Given the description of an element on the screen output the (x, y) to click on. 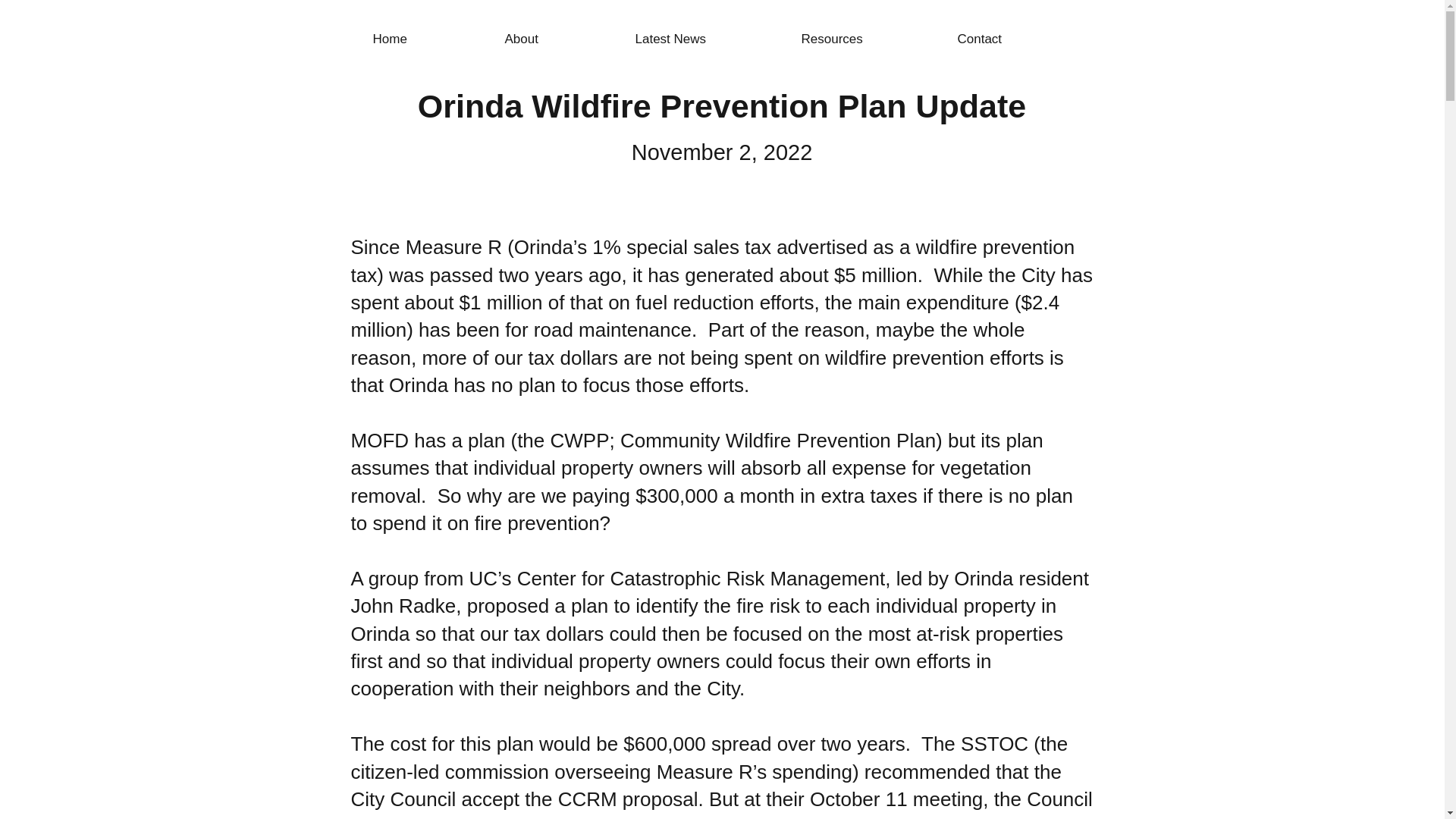
Home (431, 39)
Resources (871, 39)
About (562, 39)
Latest News (710, 39)
Contact (1019, 39)
